Given the description of an element on the screen output the (x, y) to click on. 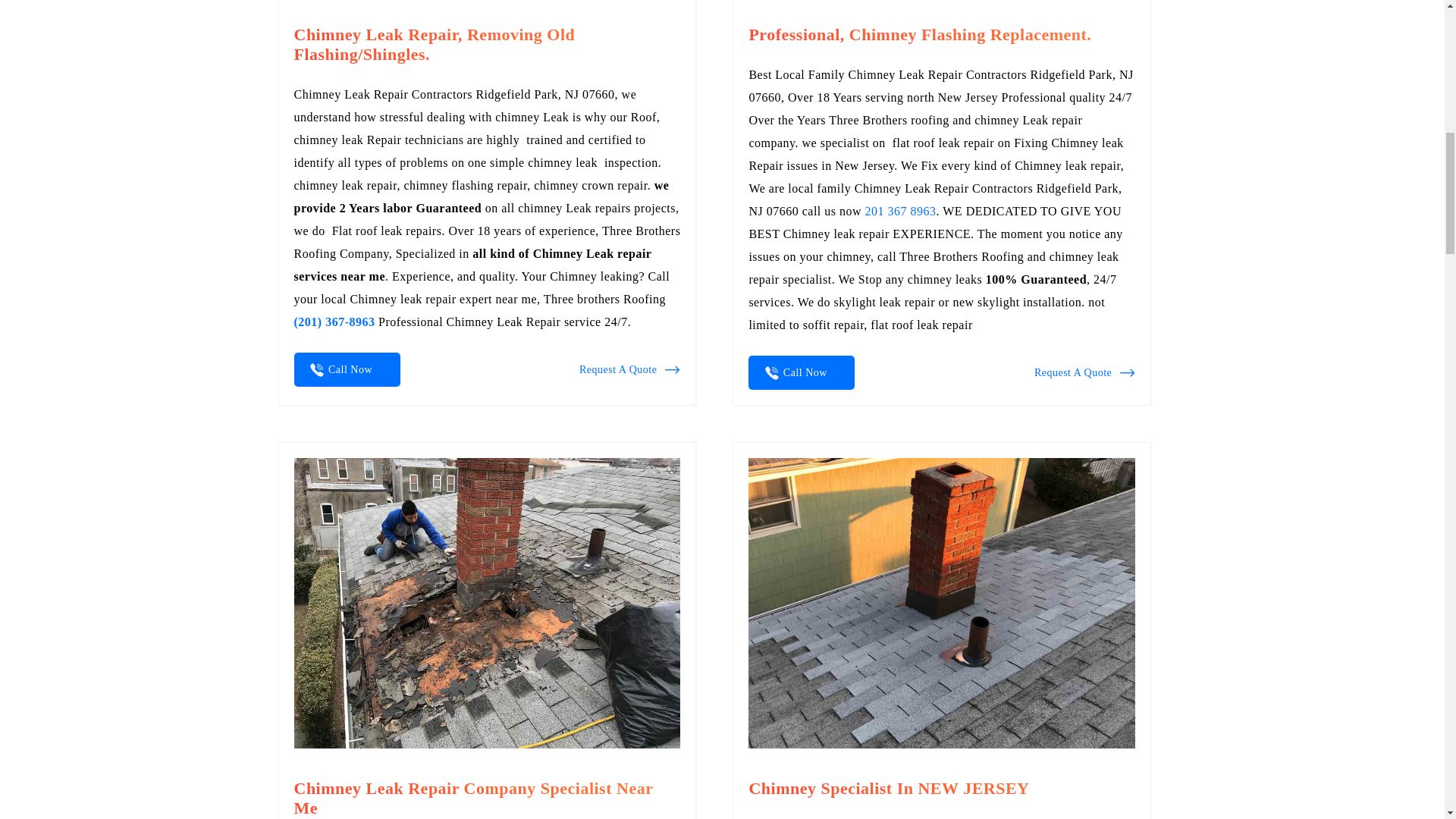
Request A Quote (1084, 372)
201 367 8963 (900, 210)
Call Now (801, 372)
Call Now (347, 369)
Request A Quote (629, 369)
